Given the description of an element on the screen output the (x, y) to click on. 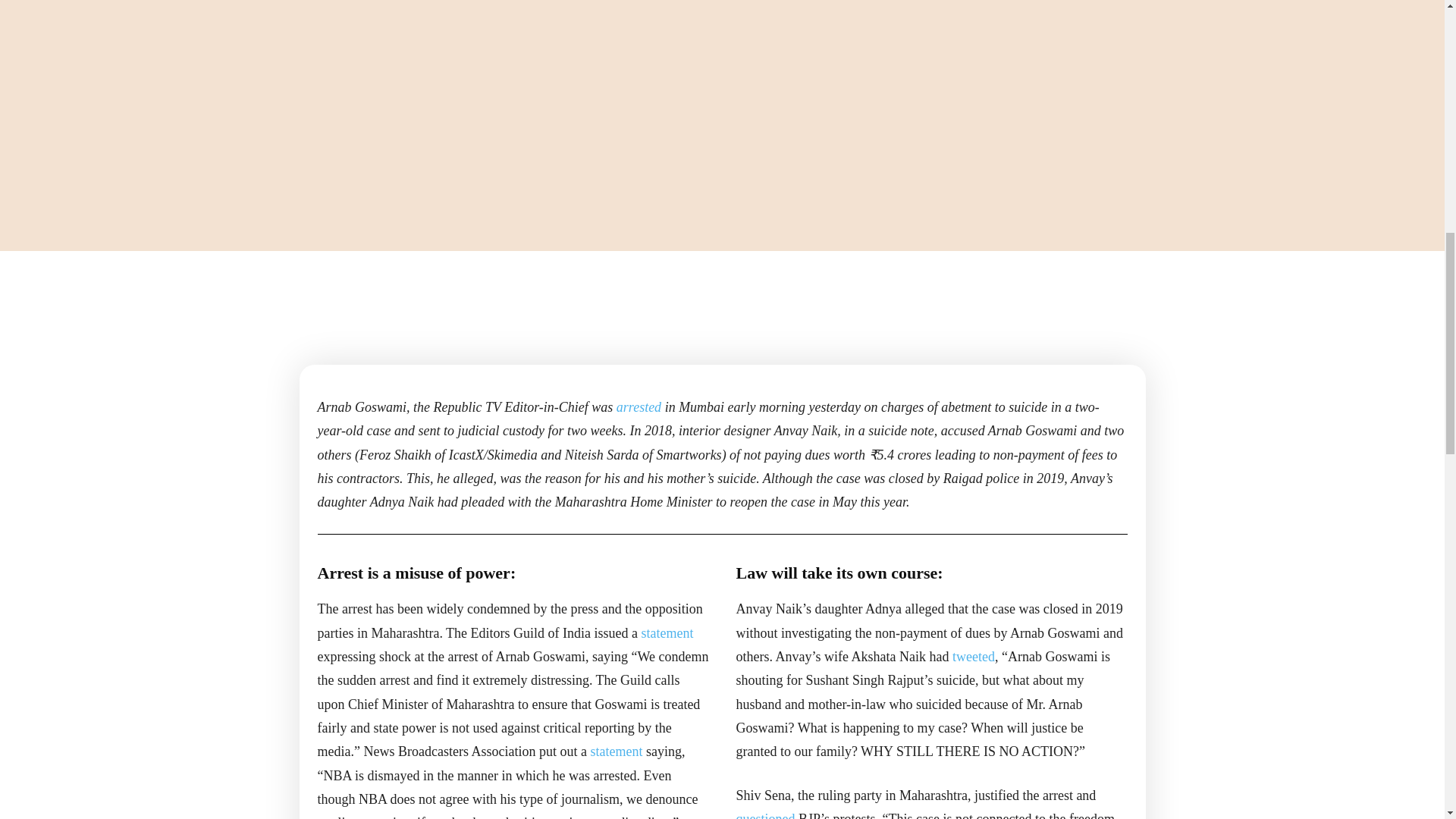
questioned (764, 815)
tweeted (973, 656)
statement (615, 751)
arrested (638, 406)
statement (668, 632)
